Given the description of an element on the screen output the (x, y) to click on. 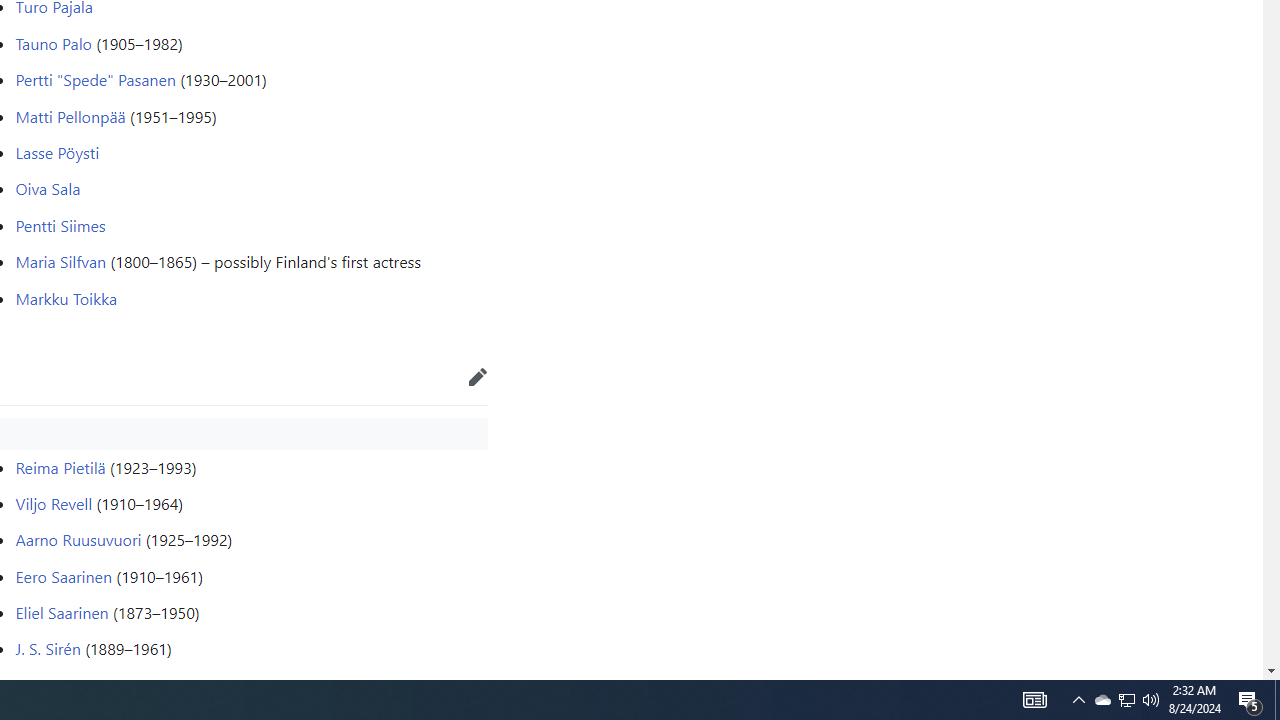
Pentti Siimes (60, 224)
Lars Sonck (52, 684)
Maria Silfvan (61, 261)
Viljo Revell (54, 502)
Tauno Palo (53, 42)
Oiva Sala (47, 188)
Aarno Ruusuvuori (78, 539)
Markku Toikka (66, 297)
Eero Saarinen (63, 575)
Pertti "Spede" Pasanen (95, 79)
edit (477, 376)
